Given the description of an element on the screen output the (x, y) to click on. 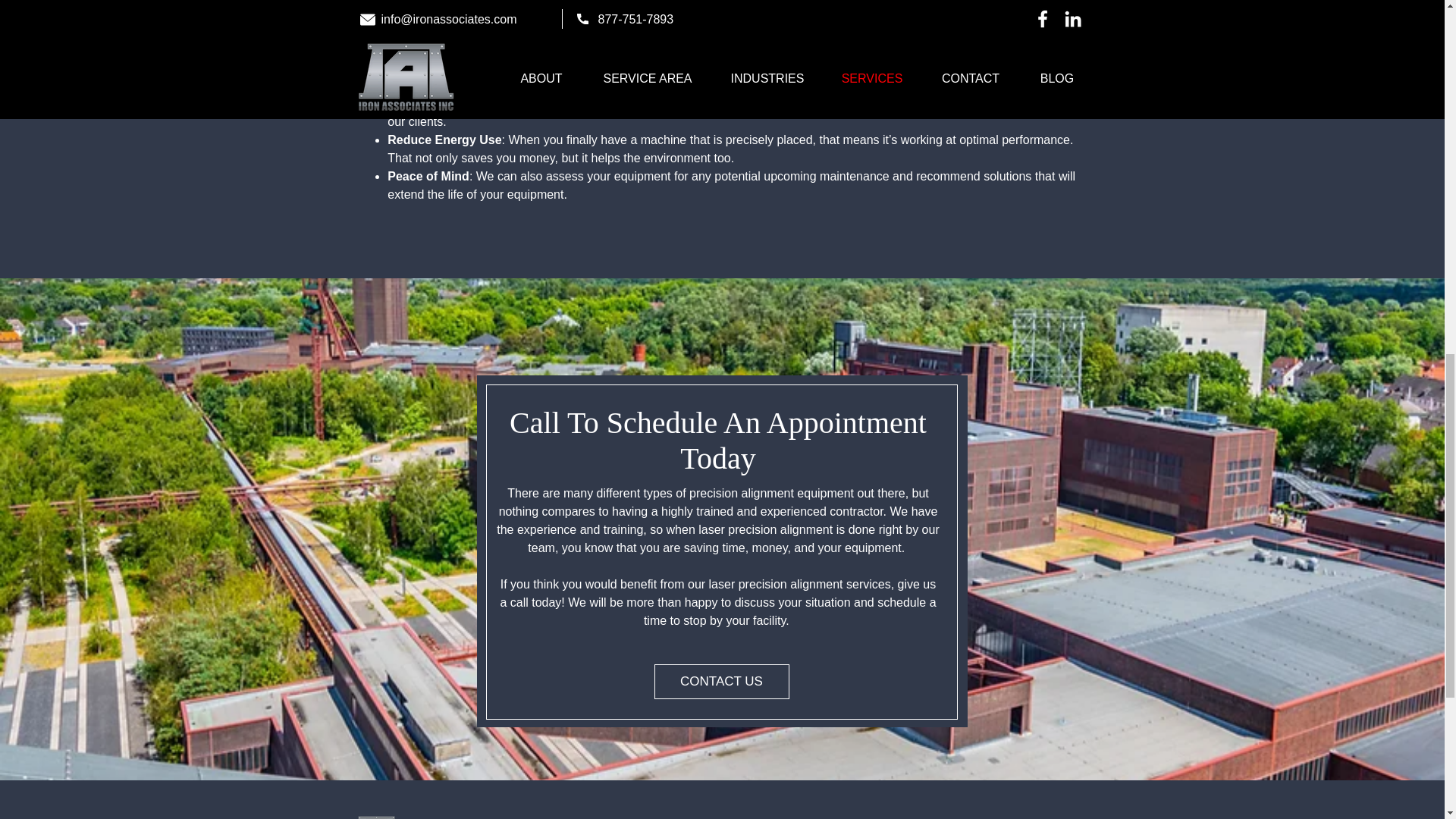
CONTACT US (721, 681)
